Given the description of an element on the screen output the (x, y) to click on. 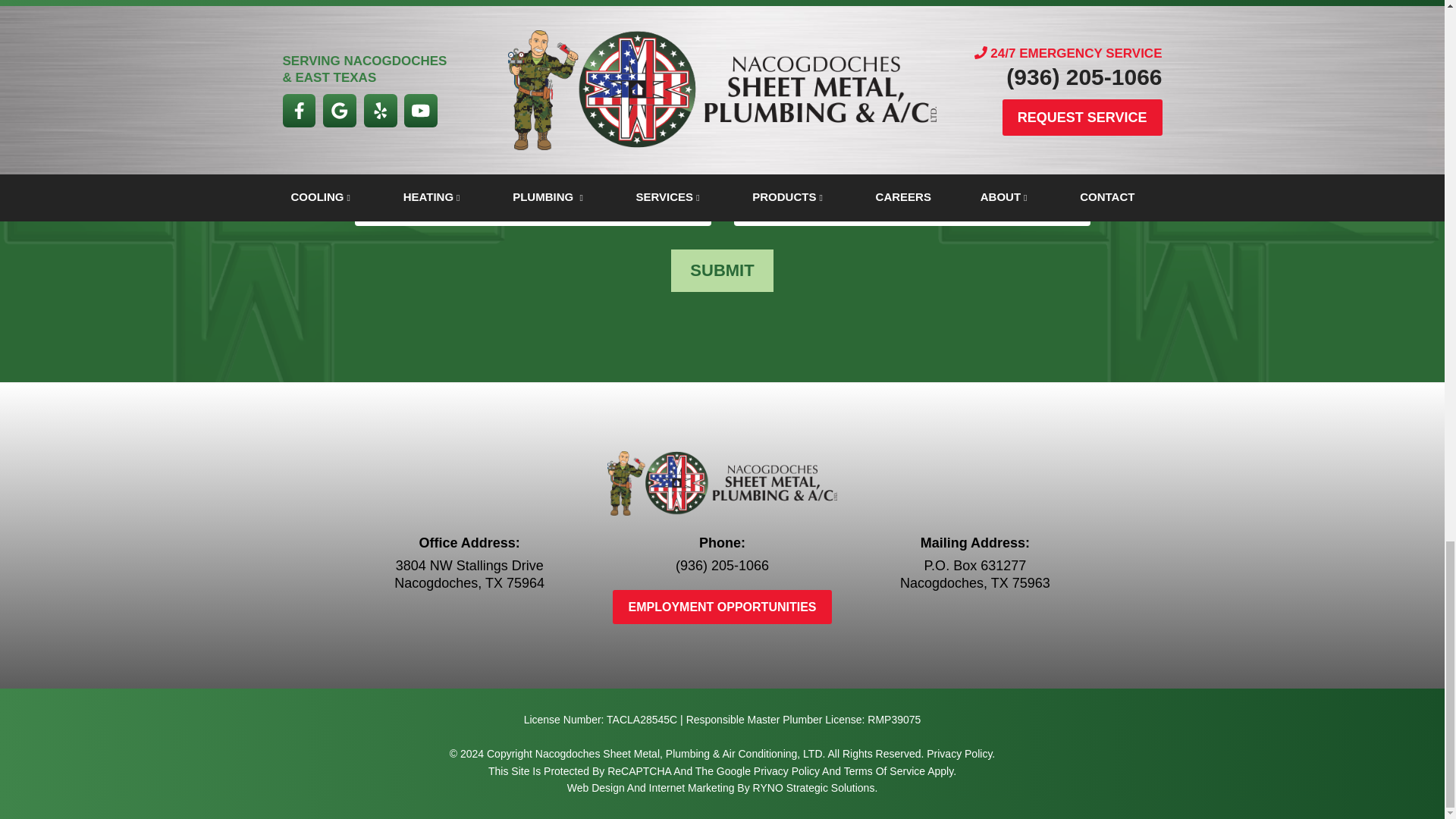
Submit (722, 270)
